Given the description of an element on the screen output the (x, y) to click on. 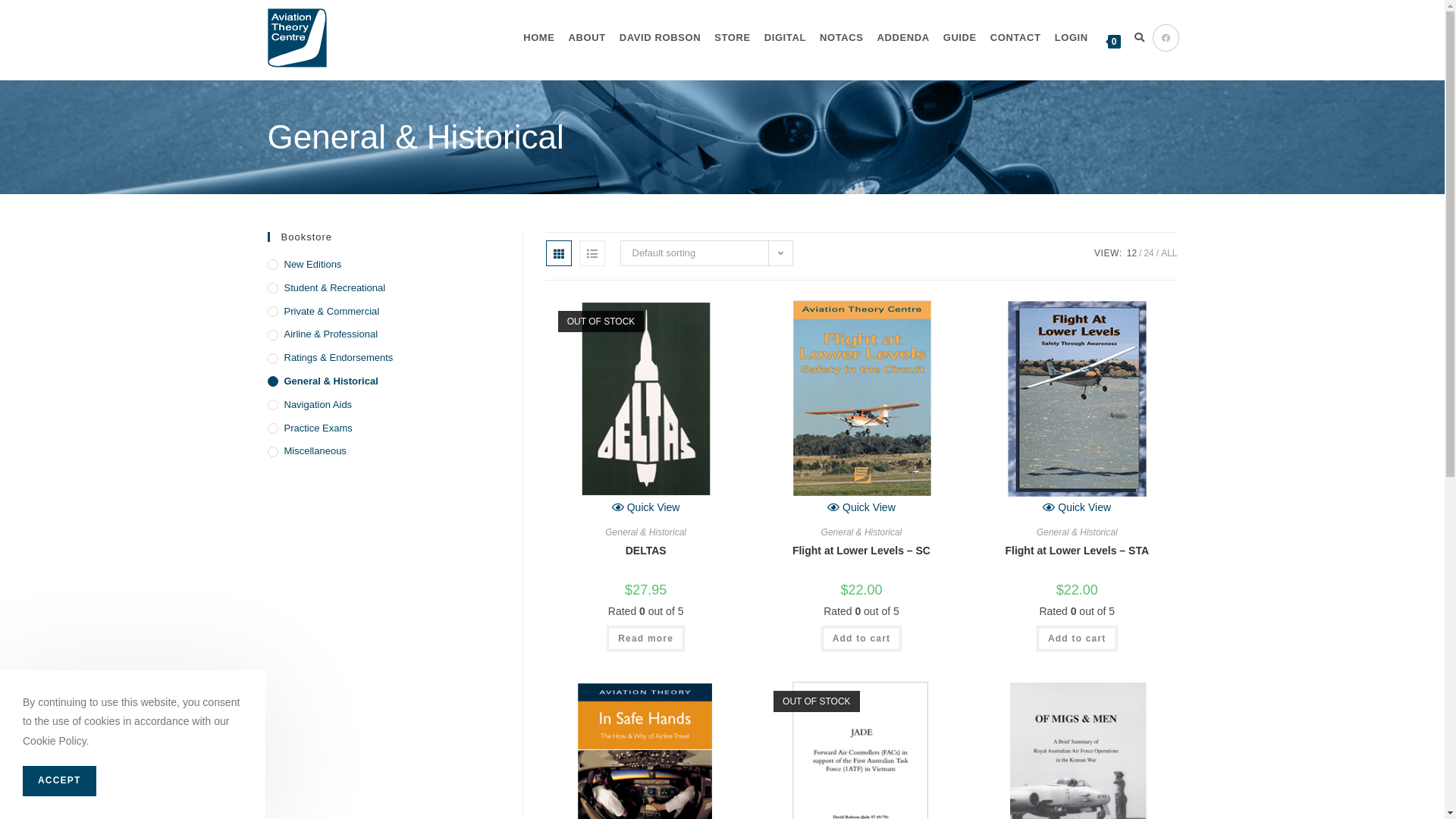
STORE Element type: text (732, 37)
Add to cart Element type: text (861, 638)
Read more Element type: text (645, 638)
Quick View Element type: text (645, 507)
General & Historical Element type: text (645, 532)
List view Element type: hover (592, 253)
Navigation Aids Element type: text (382, 405)
Grid view Element type: hover (558, 253)
HOME Element type: text (538, 37)
Student & Recreational Element type: text (382, 288)
Airline & Professional Element type: text (382, 334)
New Editions Element type: text (382, 265)
Quick View Element type: text (861, 507)
Ratings & Endorsements Element type: text (382, 358)
Add to cart Element type: text (1076, 638)
12 Element type: text (1131, 252)
GUIDE Element type: text (959, 37)
CONTACT Element type: text (1015, 37)
24 Element type: text (1148, 252)
General & Historical Element type: text (1076, 532)
LOGIN Element type: text (1071, 37)
0 Element type: text (1111, 39)
General & Historical Element type: text (382, 381)
Private & Commercial Element type: text (382, 312)
ACCEPT Element type: text (59, 780)
Quick View Element type: text (1076, 507)
General & Historical Element type: text (861, 532)
ALL Element type: text (1168, 252)
Miscellaneous Element type: text (382, 451)
Practice Exams Element type: text (382, 428)
DAVID ROBSON Element type: text (659, 37)
DIGITAL Element type: text (784, 37)
DELTAS Element type: text (645, 550)
NOTACS Element type: text (841, 37)
ABOUT Element type: text (586, 37)
ADDENDA Element type: text (902, 37)
